Given the description of an element on the screen output the (x, y) to click on. 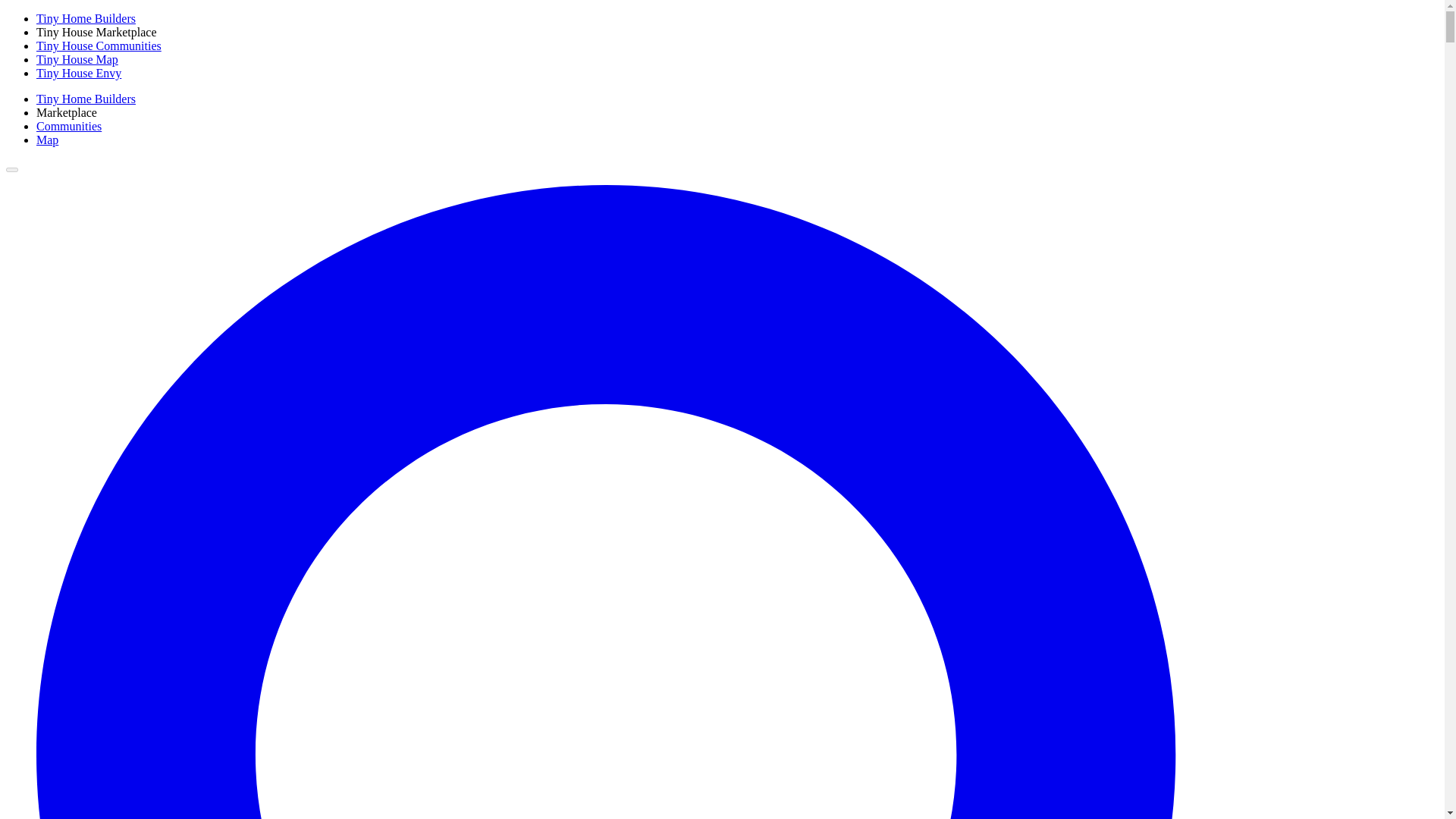
Map (47, 139)
Tiny Home Builders (85, 18)
Communities (68, 125)
Tiny House Envy (78, 72)
Tiny House Communities (98, 45)
Tiny Home Builders (85, 98)
Tiny House Map (76, 59)
